Given the description of an element on the screen output the (x, y) to click on. 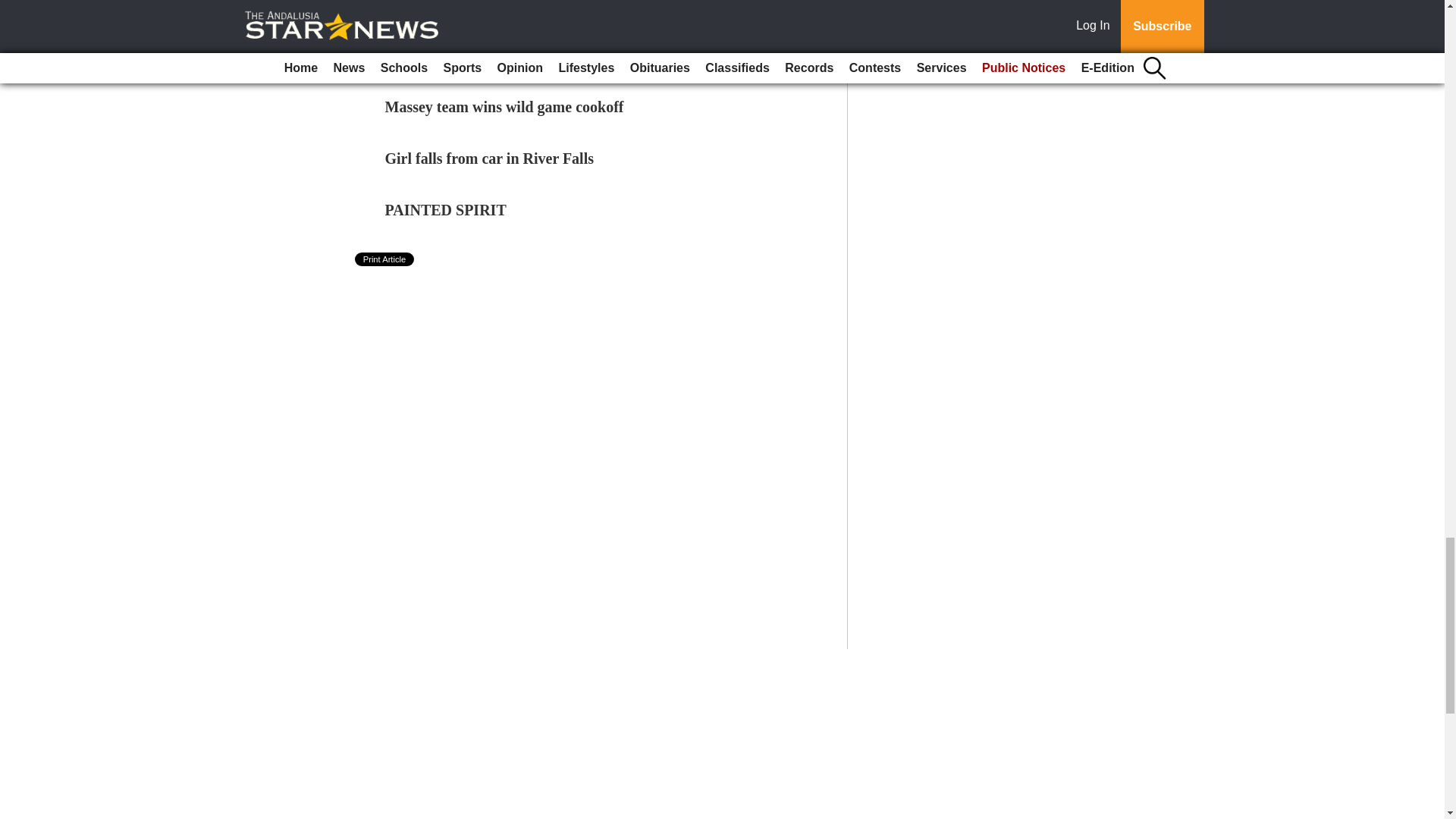
Massey team wins wild game cookoff (504, 106)
Massey team wins wild game cookoff (504, 106)
County takes no action on beer license (508, 54)
County takes no action on beer license (508, 54)
Print Article (384, 259)
Girl falls from car in River Falls (489, 158)
Girl falls from car in River Falls (489, 158)
